Given the description of an element on the screen output the (x, y) to click on. 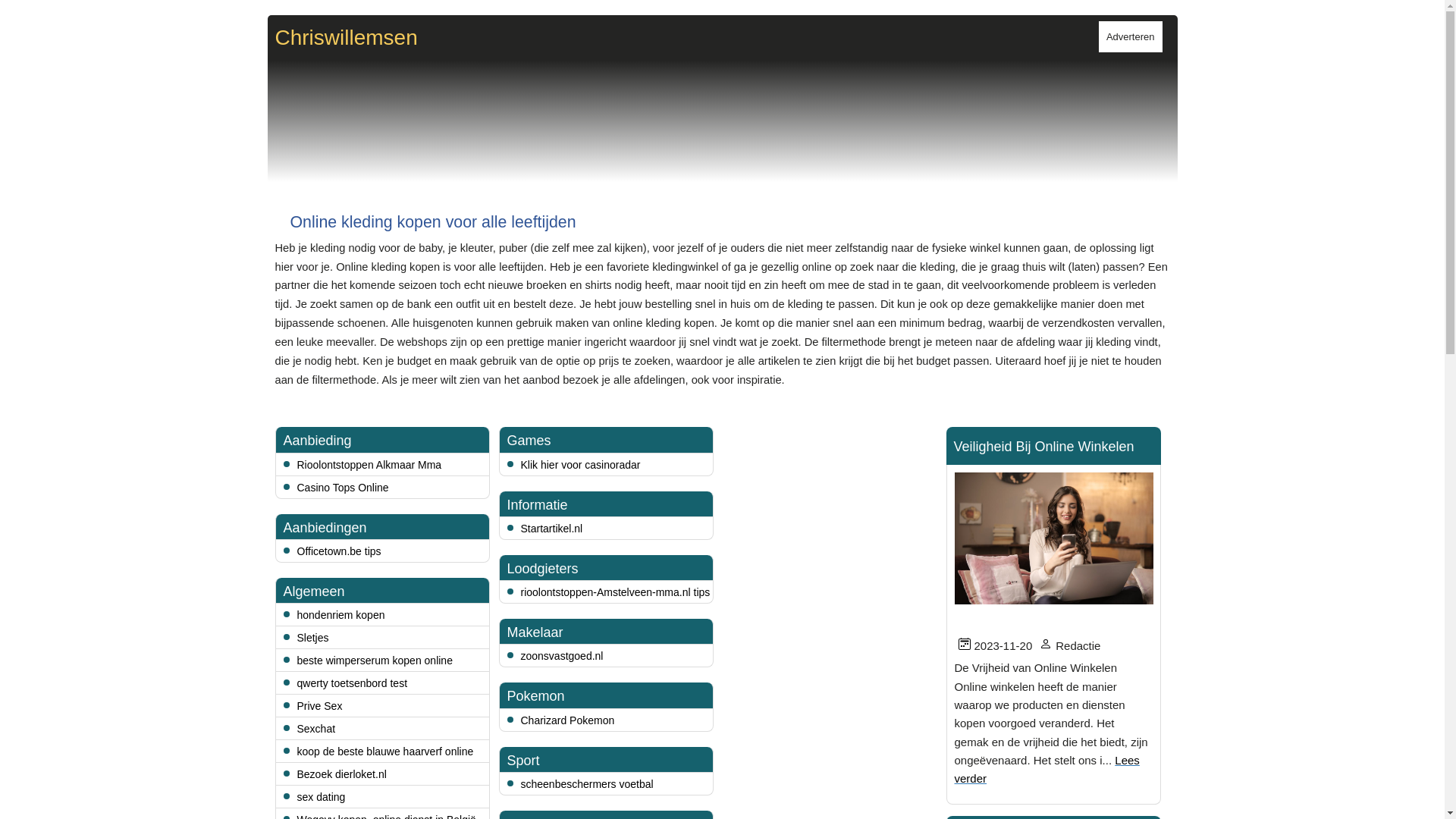
sex dating Element type: text (321, 796)
Veiligheid Bij Online Winkelen Element type: text (1043, 446)
qwerty toetsenbord test Element type: text (352, 683)
Casino Tops Online Element type: text (343, 487)
beste wimperserum kopen online Element type: text (374, 660)
Lees verder Element type: text (1046, 768)
Prive Sex Element type: text (319, 705)
Officetown.be tips Element type: text (339, 551)
Chriswillemsen Element type: text (345, 37)
koop de beste blauwe haarverf online Element type: text (385, 751)
Bezoek dierloket.nl Element type: text (341, 774)
rioolontstoppen-Amstelveen-mma.nl tips Element type: text (614, 592)
zoonsvastgoed.nl Element type: text (561, 655)
Charizard Pokemon Element type: text (567, 720)
Adverteren Element type: text (1130, 36)
Klik hier voor casinoradar Element type: text (580, 464)
scheenbeschermers voetbal Element type: text (586, 784)
Sletjes Element type: text (313, 637)
Rioolontstoppen Alkmaar Mma Element type: text (369, 464)
Sexchat Element type: text (316, 728)
Startartikel.nl Element type: text (551, 528)
hondenriem kopen Element type: text (341, 614)
